Given the description of an element on the screen output the (x, y) to click on. 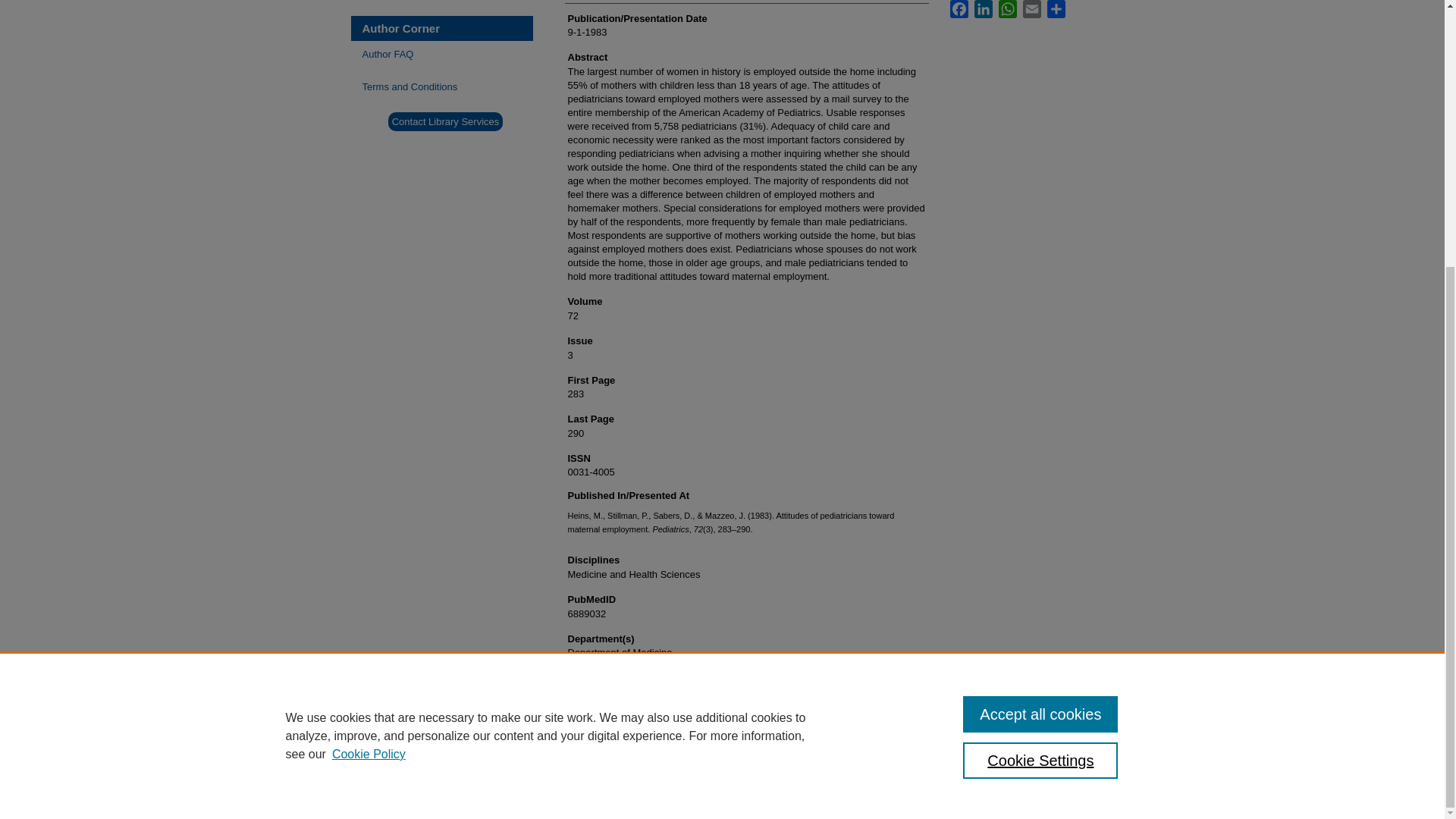
Share (1055, 9)
LinkedIn (982, 9)
Authors (447, 1)
WhatsApp (1006, 9)
Email (1031, 9)
Facebook (958, 9)
Author FAQ (447, 53)
